Given the description of an element on the screen output the (x, y) to click on. 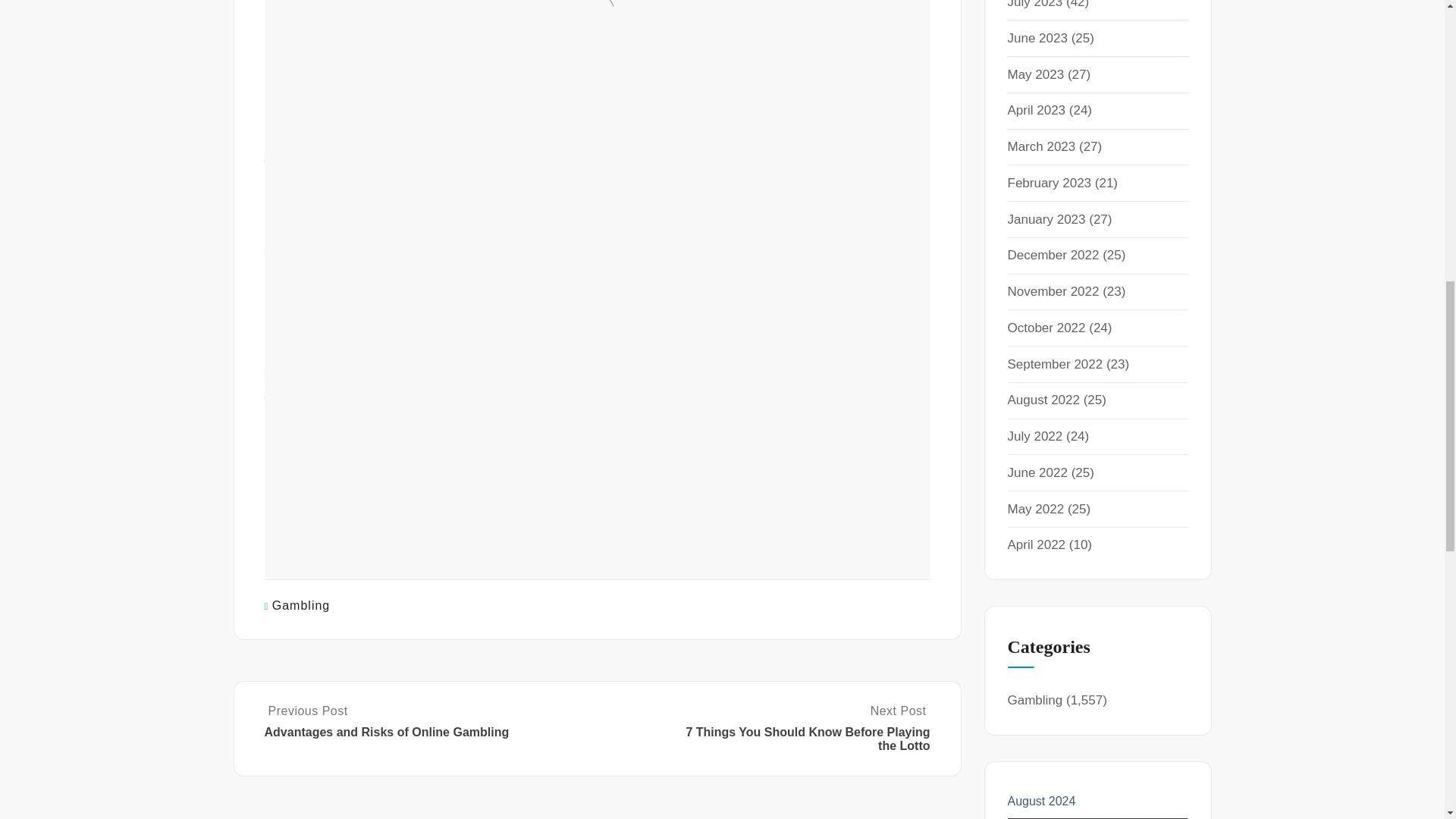
March 2023 (1041, 146)
February 2023 (1048, 183)
June 2023 (1037, 38)
Gambling (301, 604)
November 2022 (1053, 291)
May 2023 (1035, 74)
January 2023 (1045, 219)
